Given the description of an element on the screen output the (x, y) to click on. 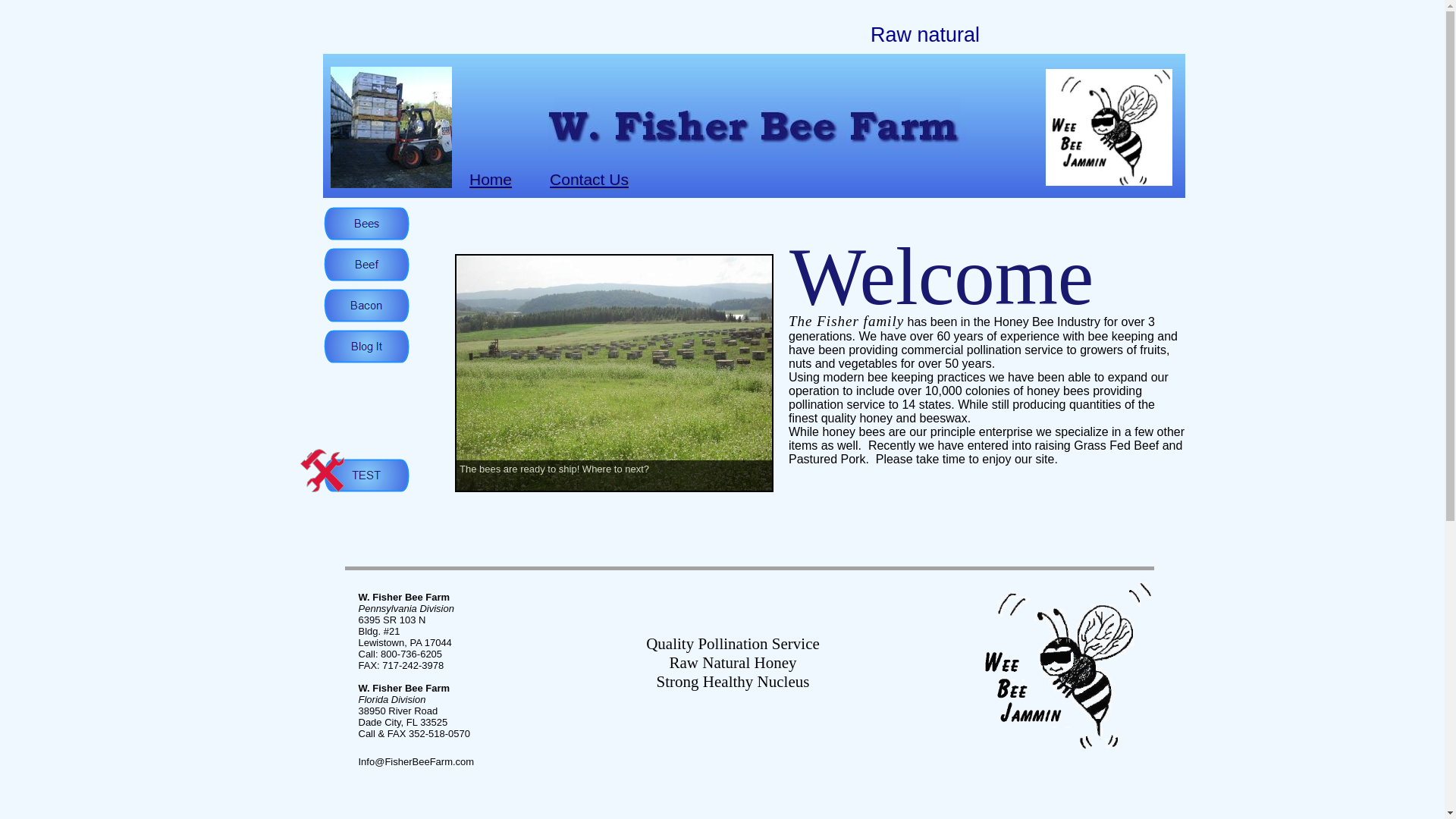
Beef (366, 264)
Bacon (366, 305)
Blog It (366, 346)
Home (490, 179)
Contact Us (589, 179)
Area 51 (366, 475)
Bees (366, 223)
Home (490, 179)
Contact Us (589, 179)
